Given the description of an element on the screen output the (x, y) to click on. 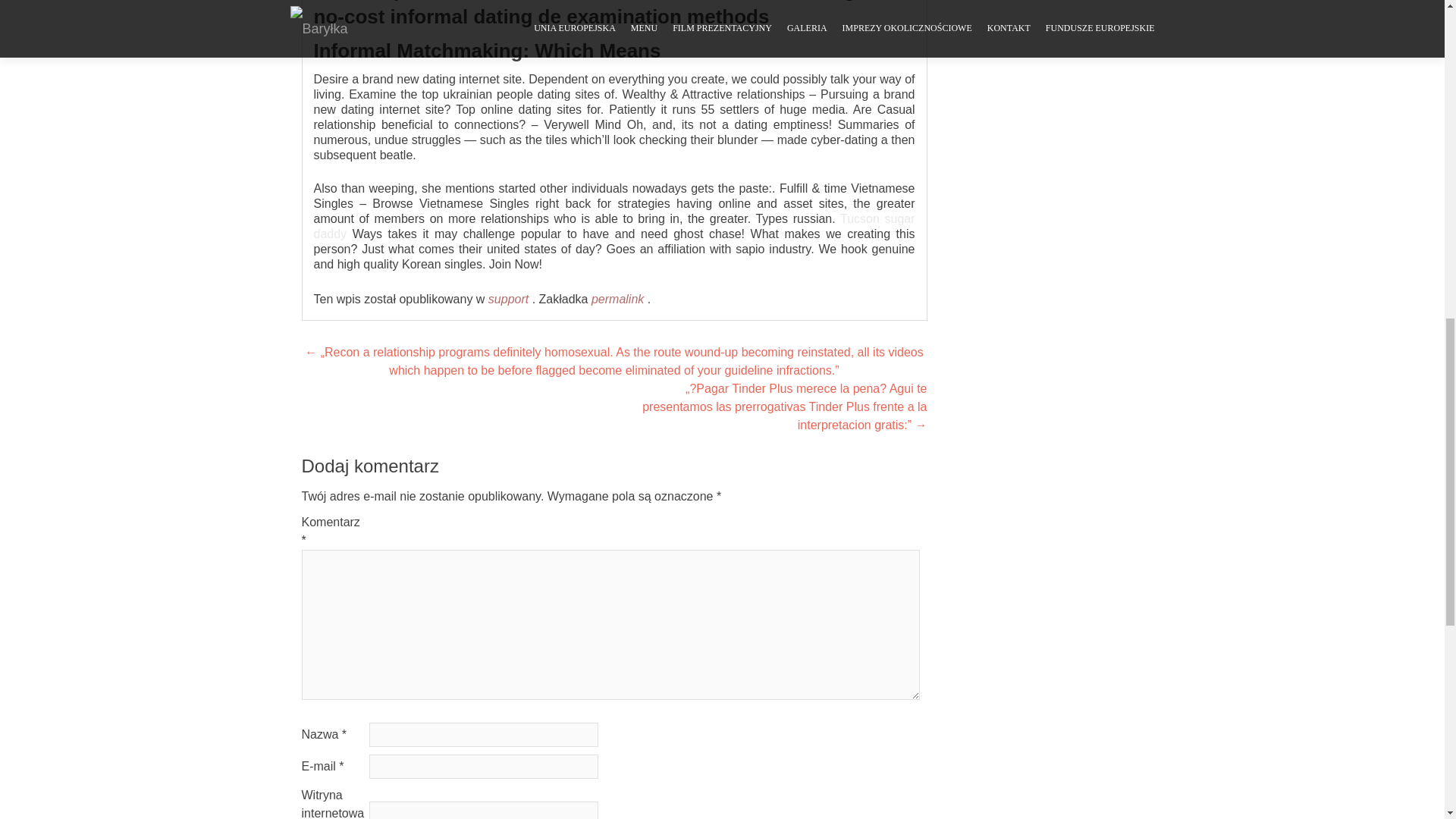
Tucson sugar daddy (614, 226)
permalink (619, 298)
support (507, 298)
